Given the description of an element on the screen output the (x, y) to click on. 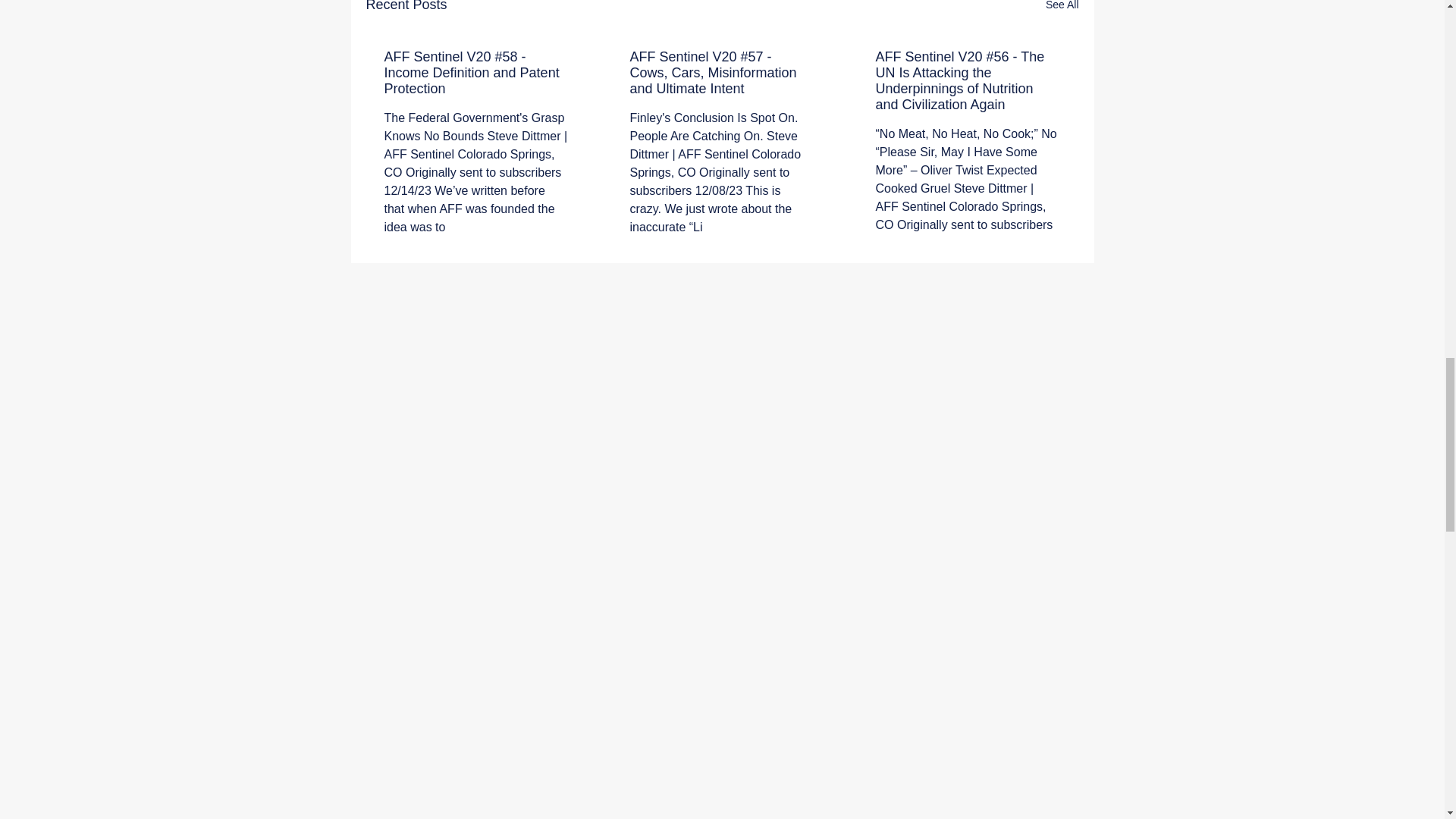
See All (1061, 7)
